Given the description of an element on the screen output the (x, y) to click on. 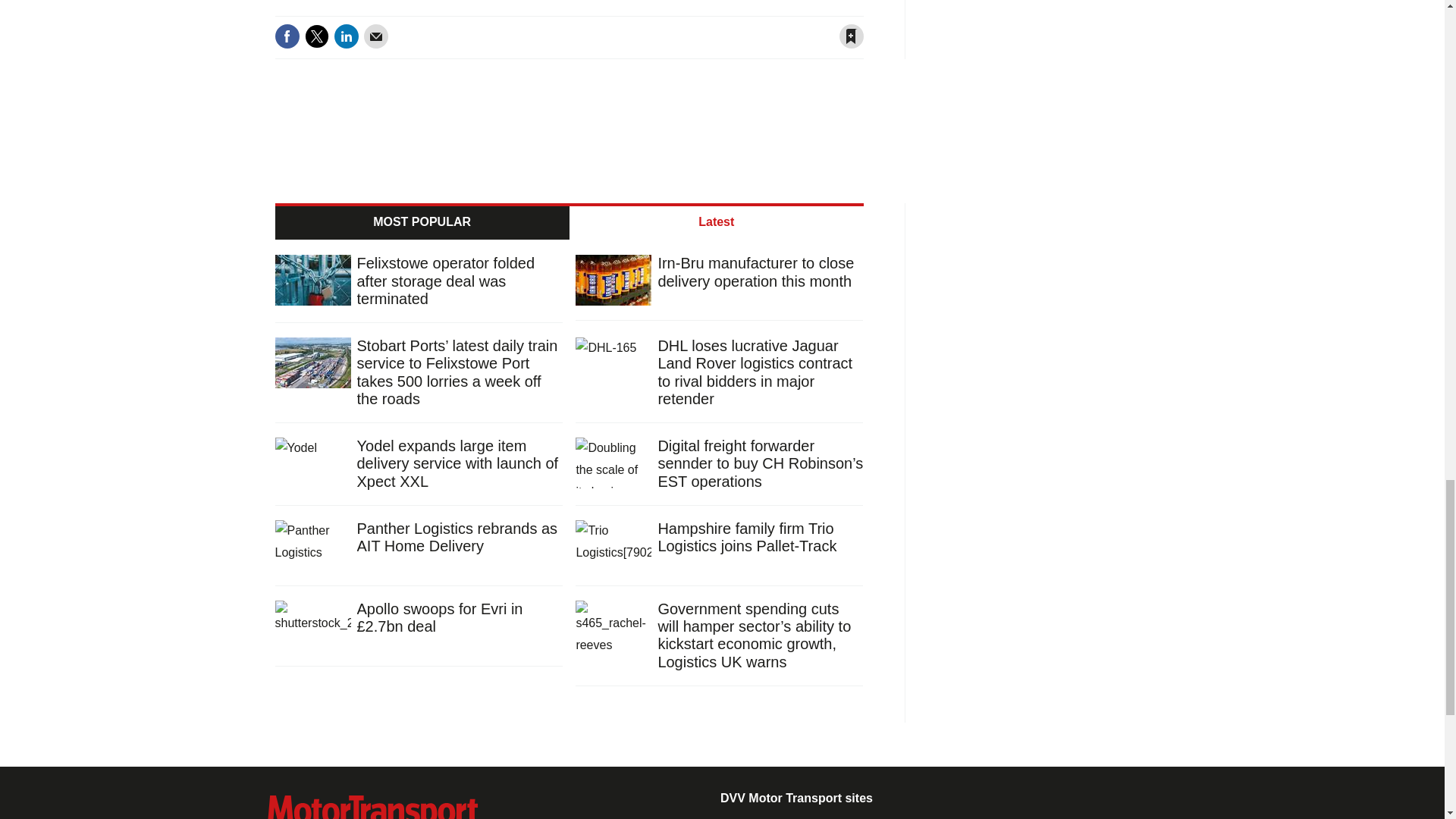
3rd party ad content (1056, 71)
Share this on Twitter (316, 36)
Share this on Linked in (345, 36)
Share this on Facebook (286, 36)
Email this article (376, 36)
